Given the description of an element on the screen output the (x, y) to click on. 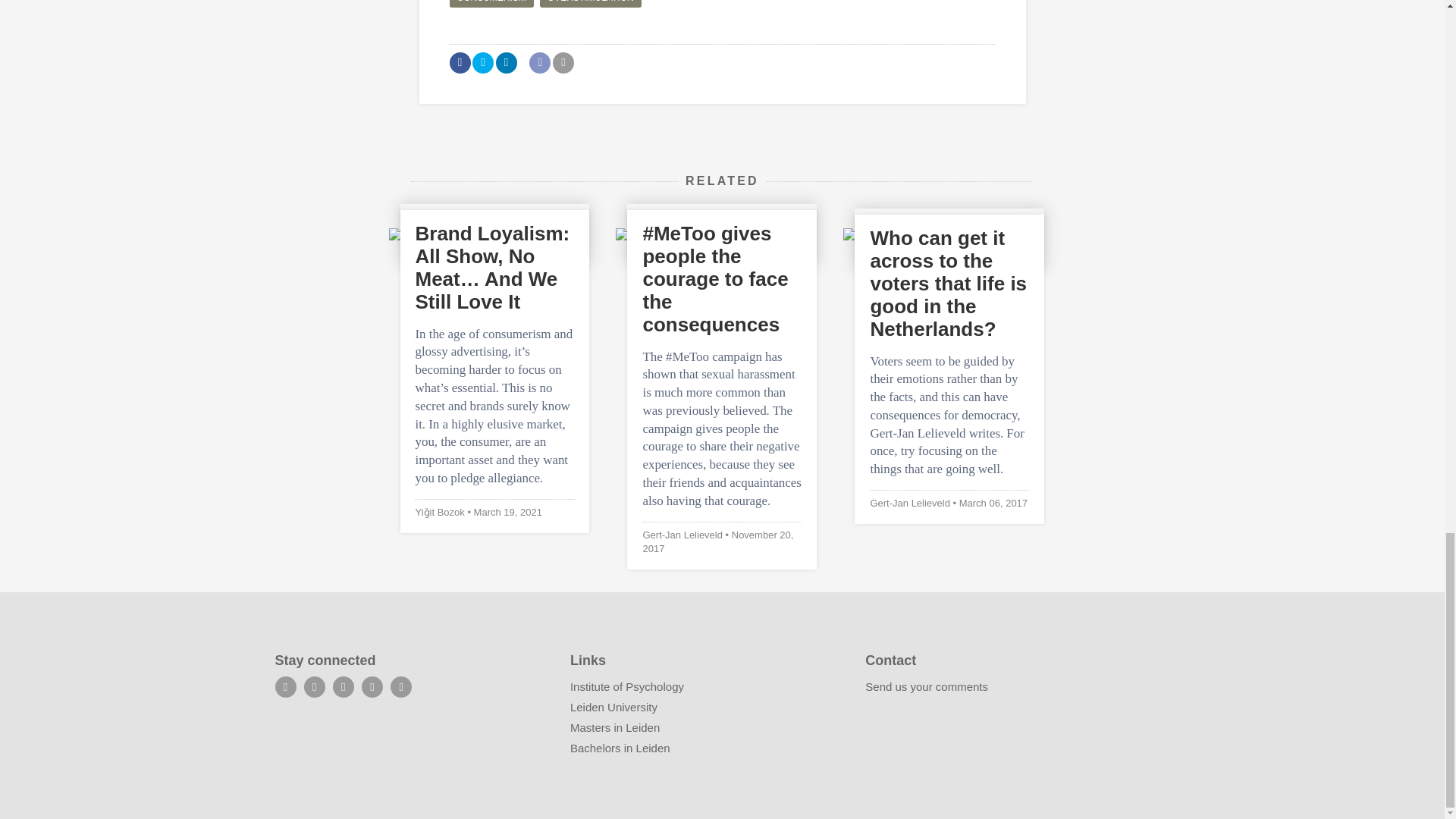
Print (563, 62)
CONSUMERISM (490, 3)
OVERSTIMULATION (591, 3)
